Given the description of an element on the screen output the (x, y) to click on. 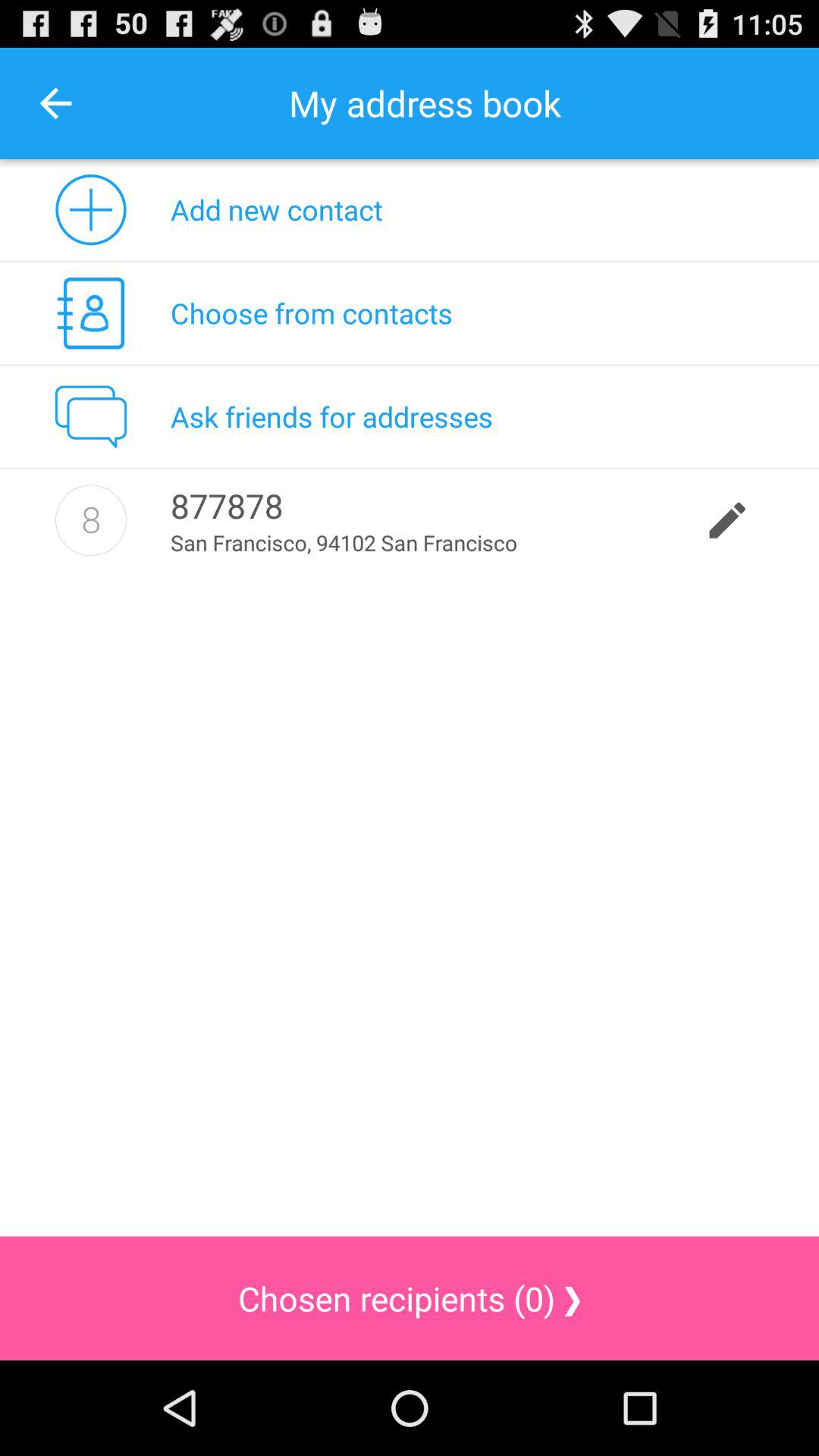
press icon to the left of 877878 icon (90, 520)
